Given the description of an element on the screen output the (x, y) to click on. 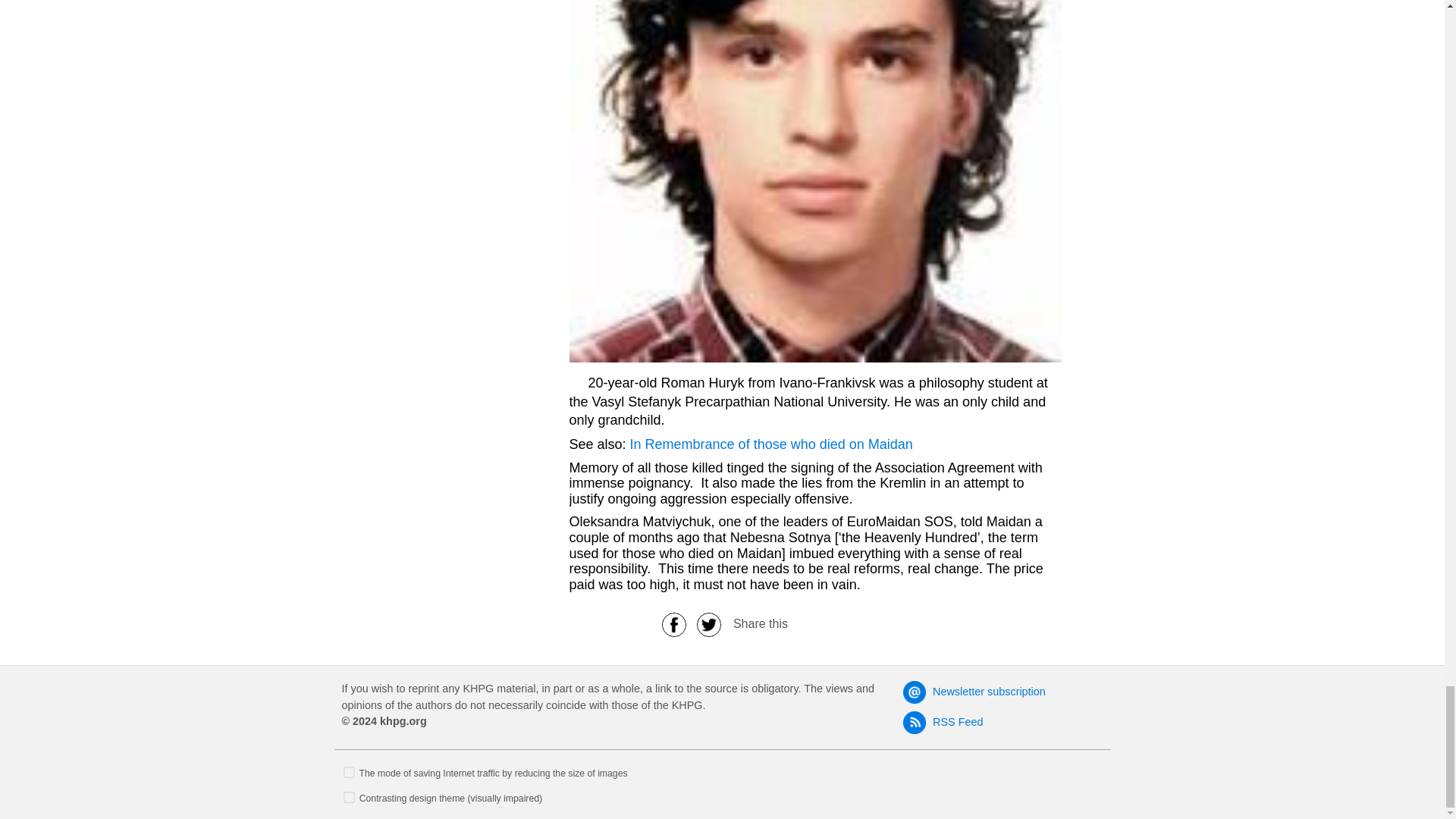
Facebook (673, 623)
1 (348, 771)
Twitter (708, 623)
1 (348, 796)
